Given the description of an element on the screen output the (x, y) to click on. 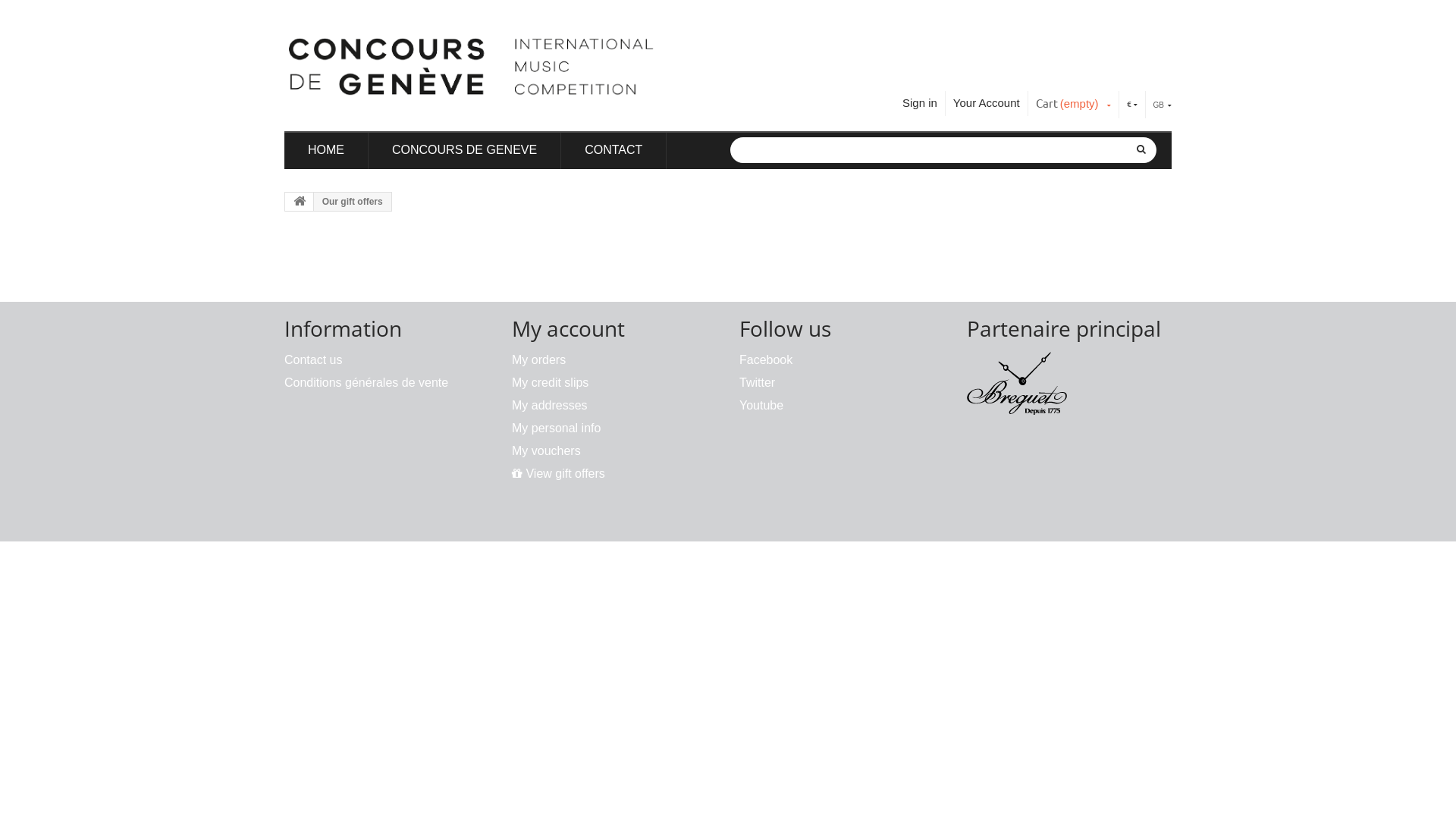
My vouchers Element type: text (545, 450)
Sign in Element type: text (919, 102)
My personal info Element type: text (555, 427)
Contact us Element type: text (313, 359)
My credit slips Element type: text (549, 382)
View gift offers Element type: text (558, 473)
CONTACT Element type: text (613, 150)
My orders Element type: text (538, 359)
My addresses Element type: text (549, 404)
Facebook Element type: text (765, 359)
Cart (empty) Element type: text (1073, 106)
HOME Element type: text (325, 150)
Twitter Element type: text (757, 382)
My account Element type: text (567, 327)
Return to Home Element type: hover (299, 201)
CONCOURS DE GENEVE Element type: text (464, 150)
Your Account Element type: text (986, 102)
Youtube Element type: text (761, 404)
